Given the description of an element on the screen output the (x, y) to click on. 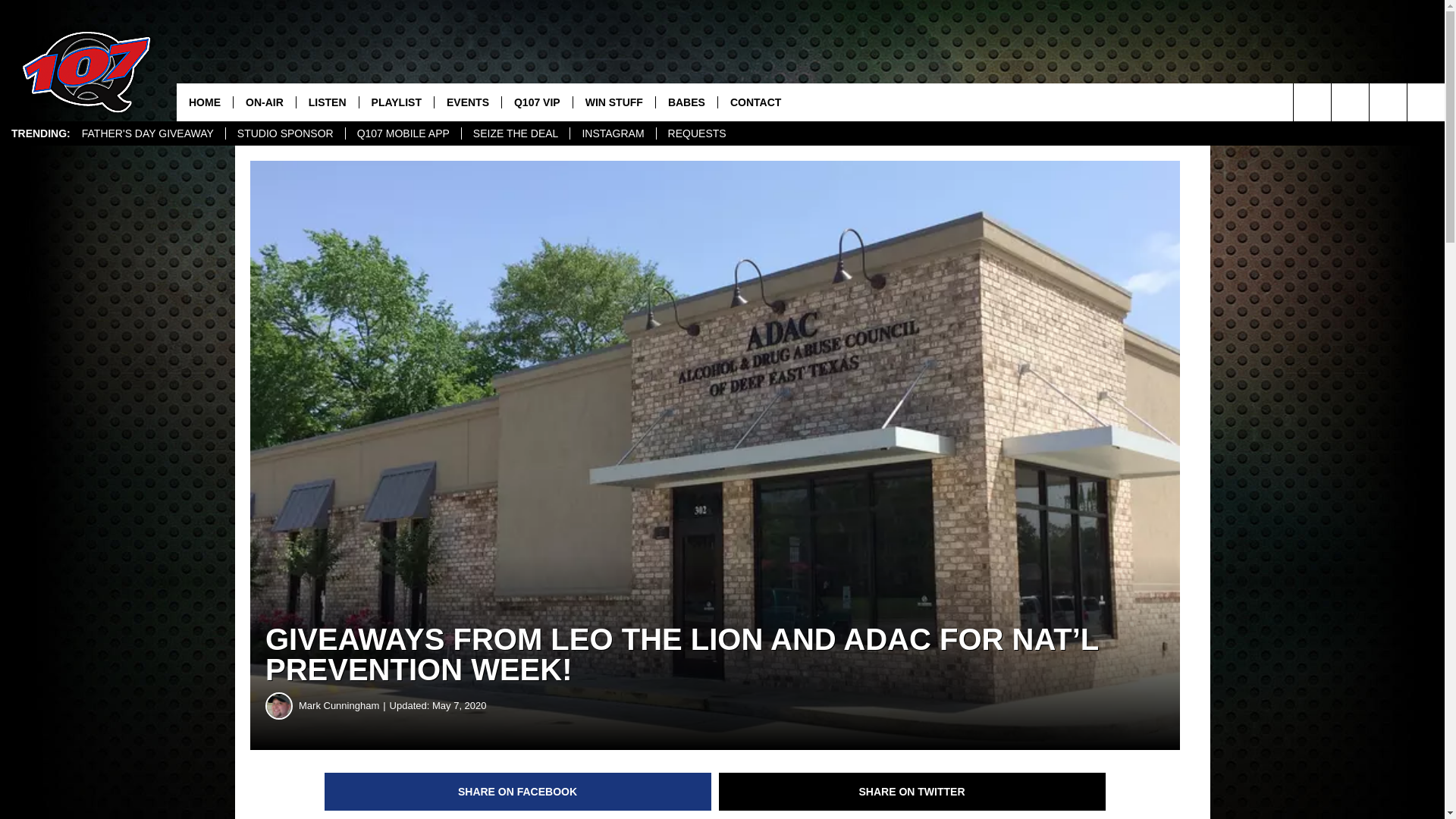
Q107 VIP (536, 102)
EVENTS (466, 102)
FATHER'S DAY GIVEAWAY (147, 133)
CONTACT (755, 102)
SEIZE THE DEAL (515, 133)
LISTEN (326, 102)
INSTAGRAM (612, 133)
STUDIO SPONSOR (285, 133)
HOME (204, 102)
BABES (686, 102)
PLAYLIST (395, 102)
WIN STUFF (613, 102)
REQUESTS (697, 133)
Q107 MOBILE APP (403, 133)
Share on Twitter (912, 791)
